Given the description of an element on the screen output the (x, y) to click on. 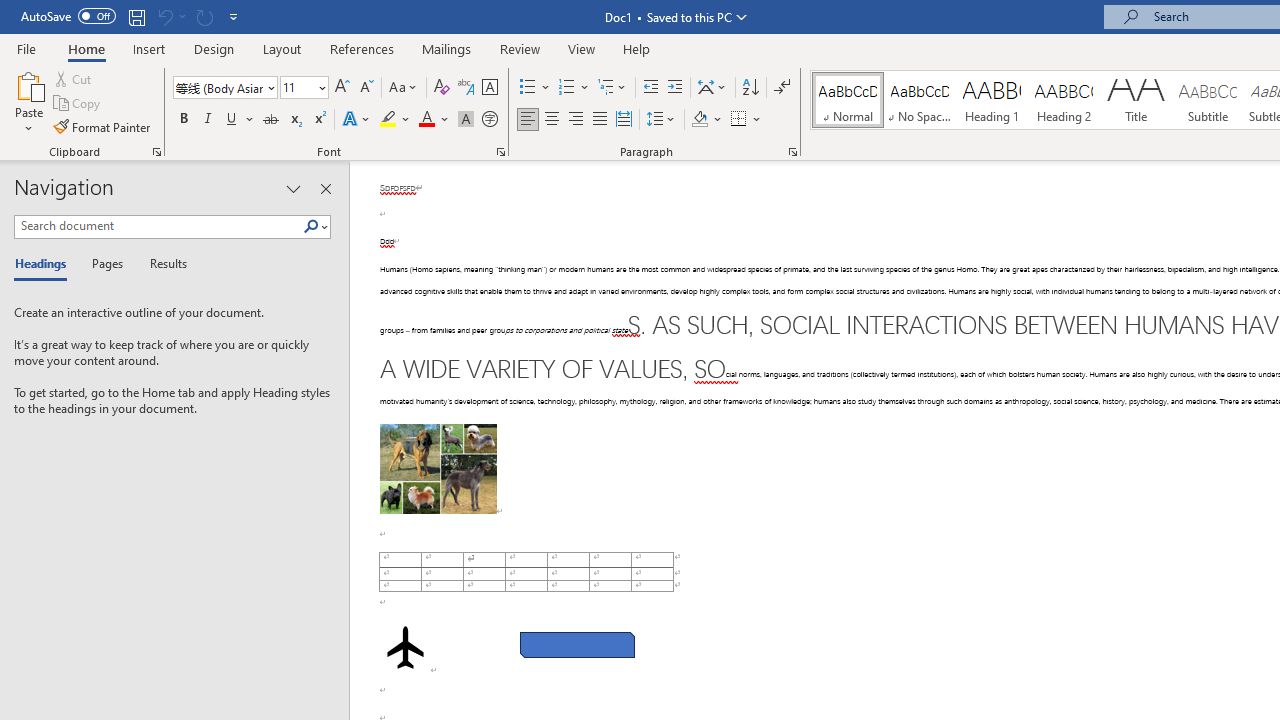
Rectangle: Diagonal Corners Snipped 2 (576, 645)
